Given the description of an element on the screen output the (x, y) to click on. 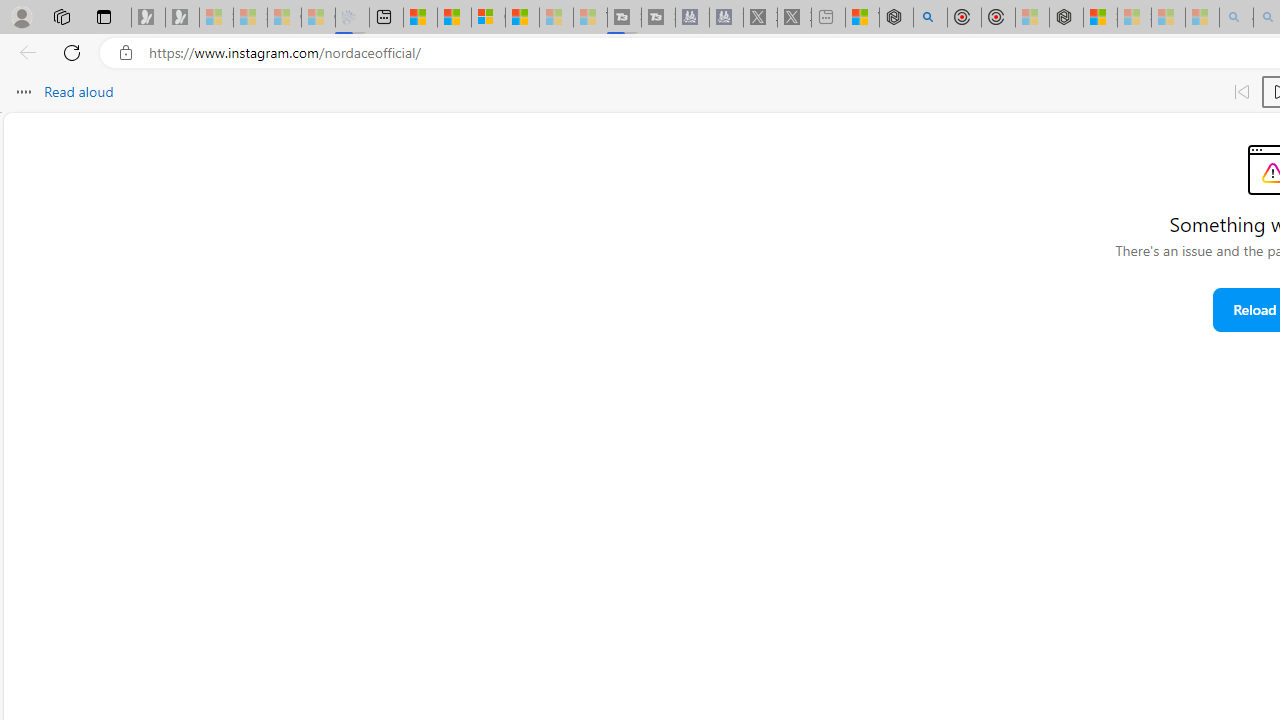
Overview (488, 17)
New tab - Sleeping (827, 17)
Streaming Coverage | T3 - Sleeping (624, 17)
Wildlife - MSN (862, 17)
Read previous paragraph (1241, 92)
Microsoft Start - Sleeping (556, 17)
